Given the description of an element on the screen output the (x, y) to click on. 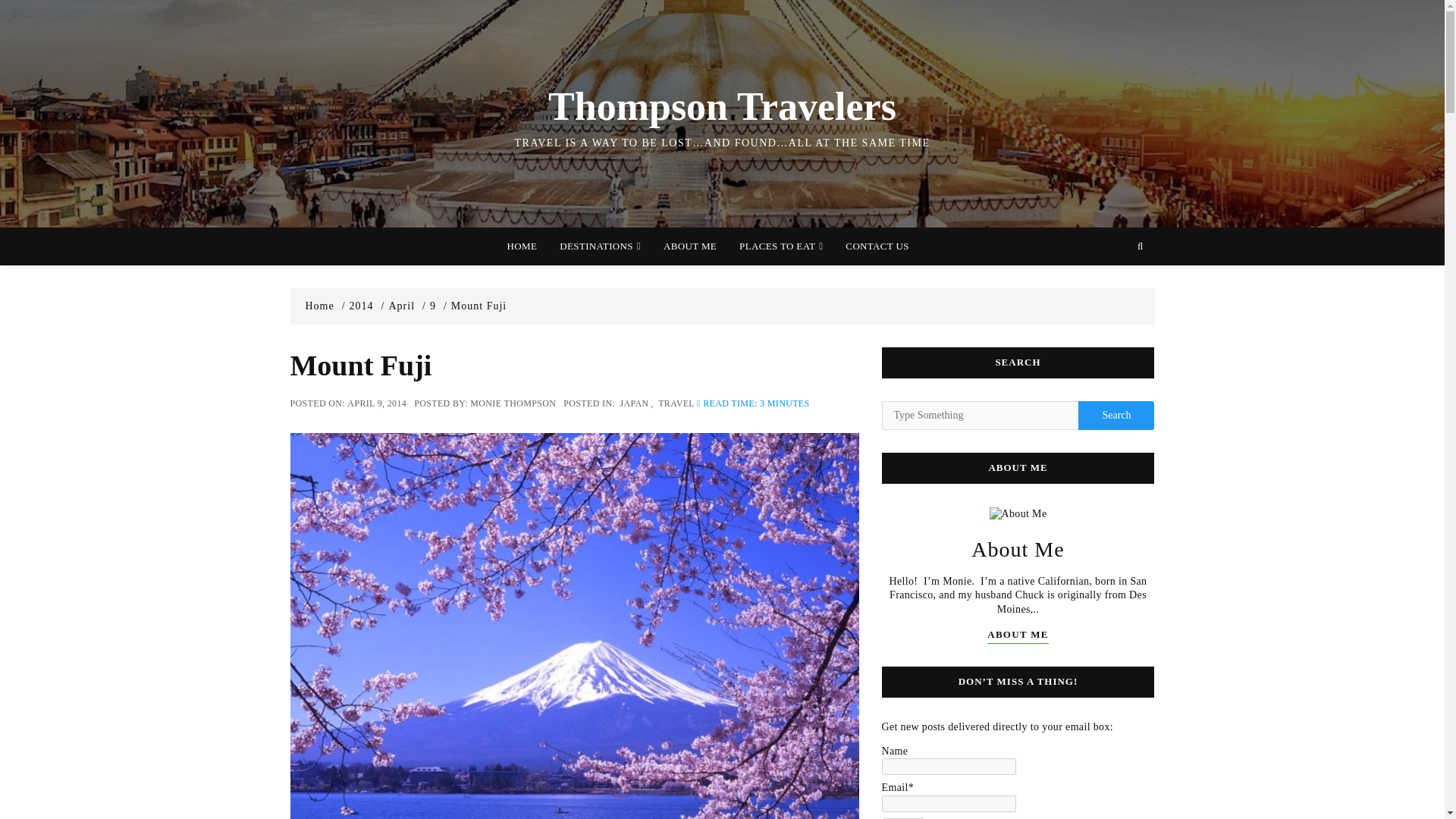
HOME (522, 246)
DESTINATIONS (600, 246)
Thompson Travelers (722, 106)
Submit (901, 818)
Search (1116, 415)
